Given the description of an element on the screen output the (x, y) to click on. 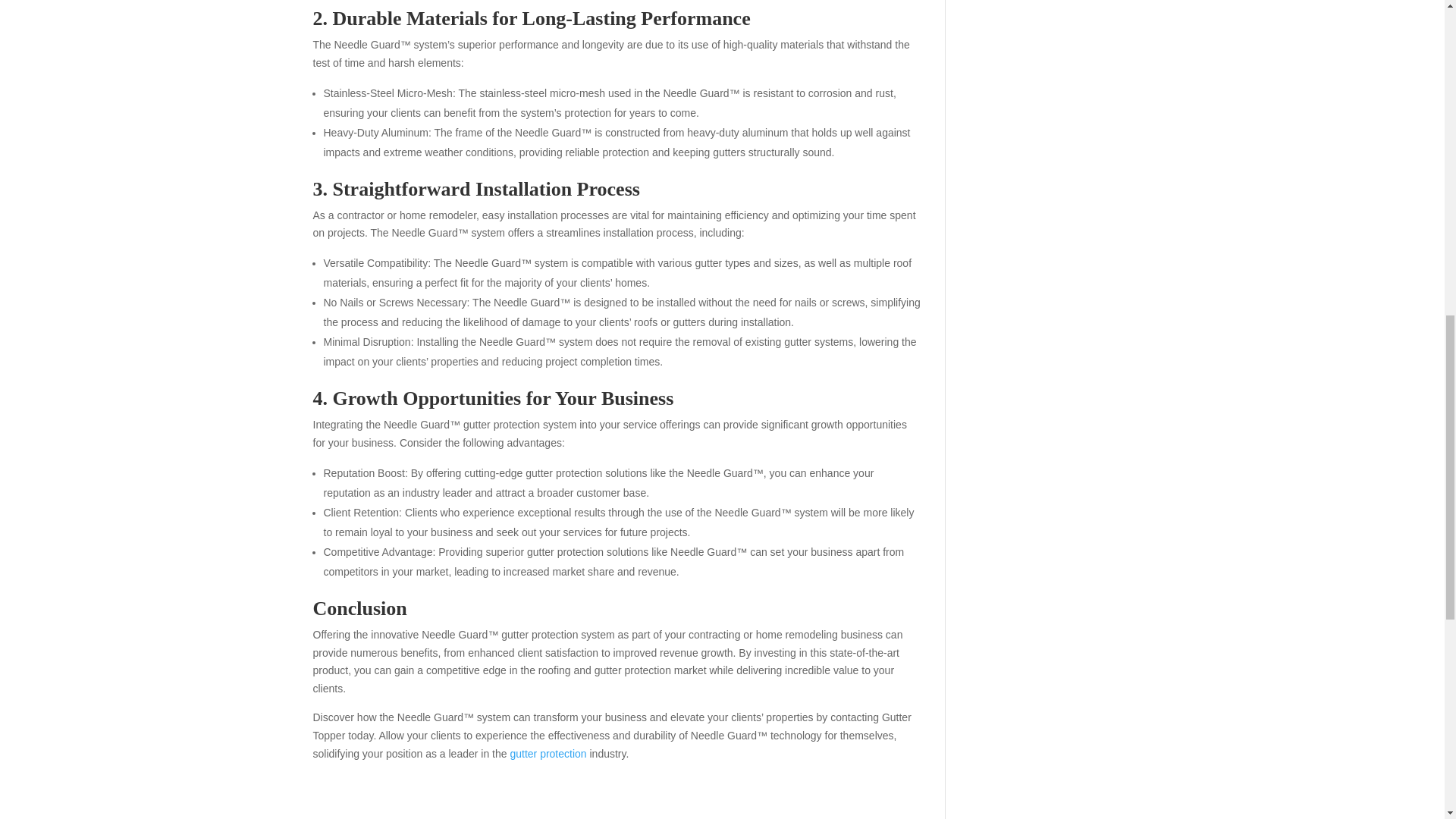
gutter protection (547, 753)
